Given the description of an element on the screen output the (x, y) to click on. 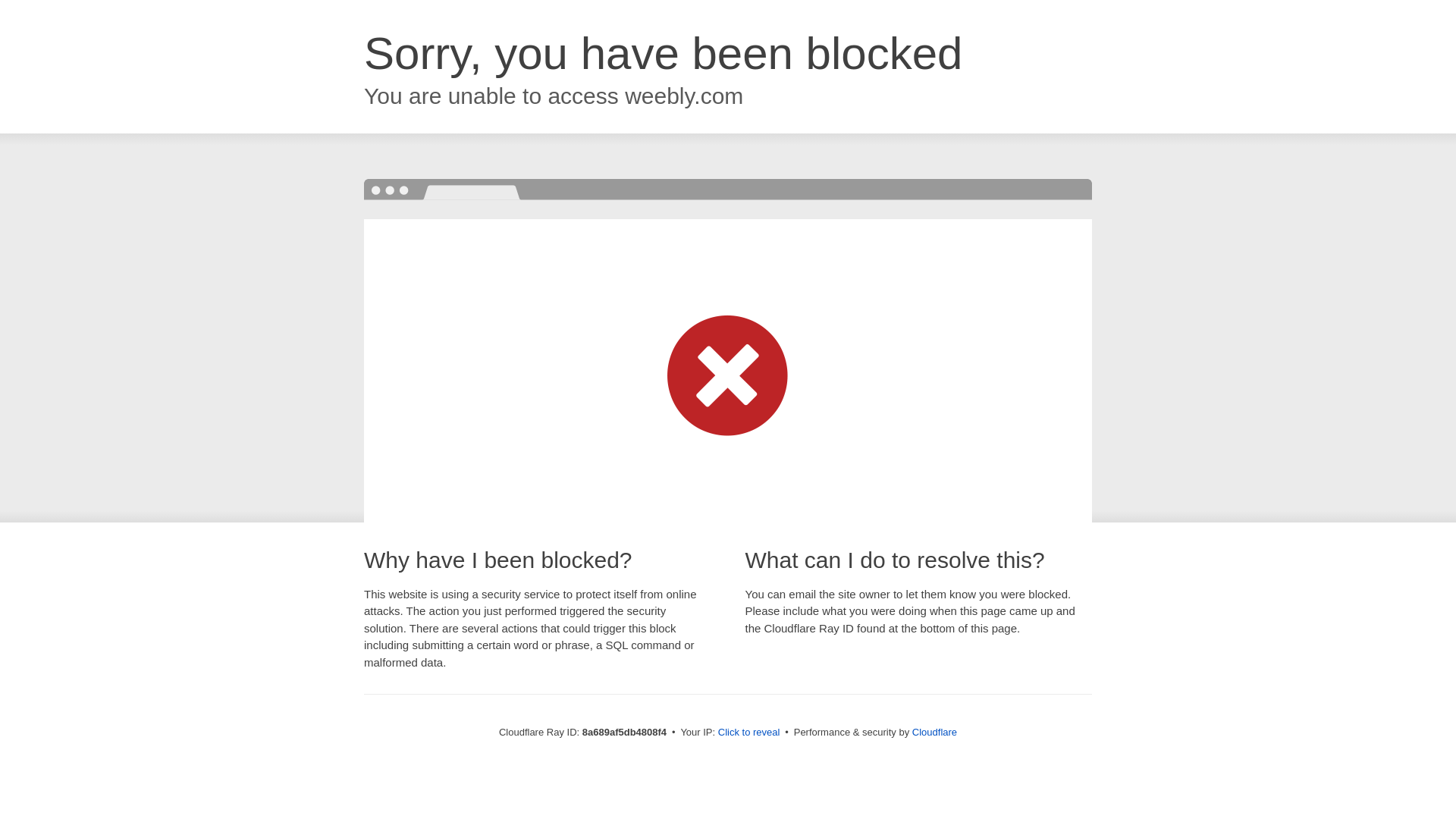
Cloudflare (934, 731)
Click to reveal (748, 732)
